Given the description of an element on the screen output the (x, y) to click on. 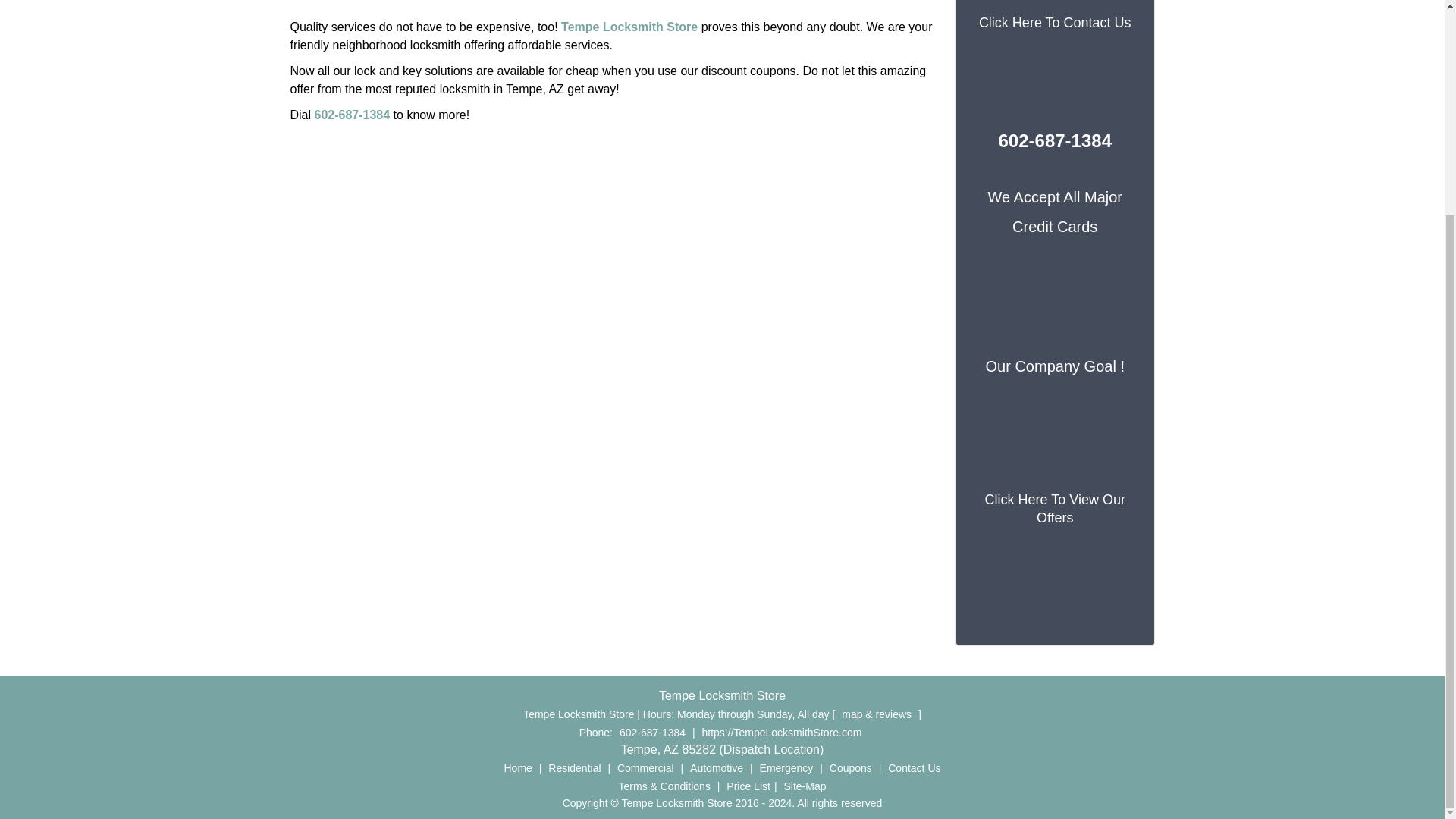
Tempe Locksmith Store (628, 26)
602-687-1384 (1055, 140)
602-687-1384 (651, 732)
Click Here To Contact Us (1054, 23)
602-687-1384 (352, 114)
Click Here To View Our Offers (1054, 508)
